Given the description of an element on the screen output the (x, y) to click on. 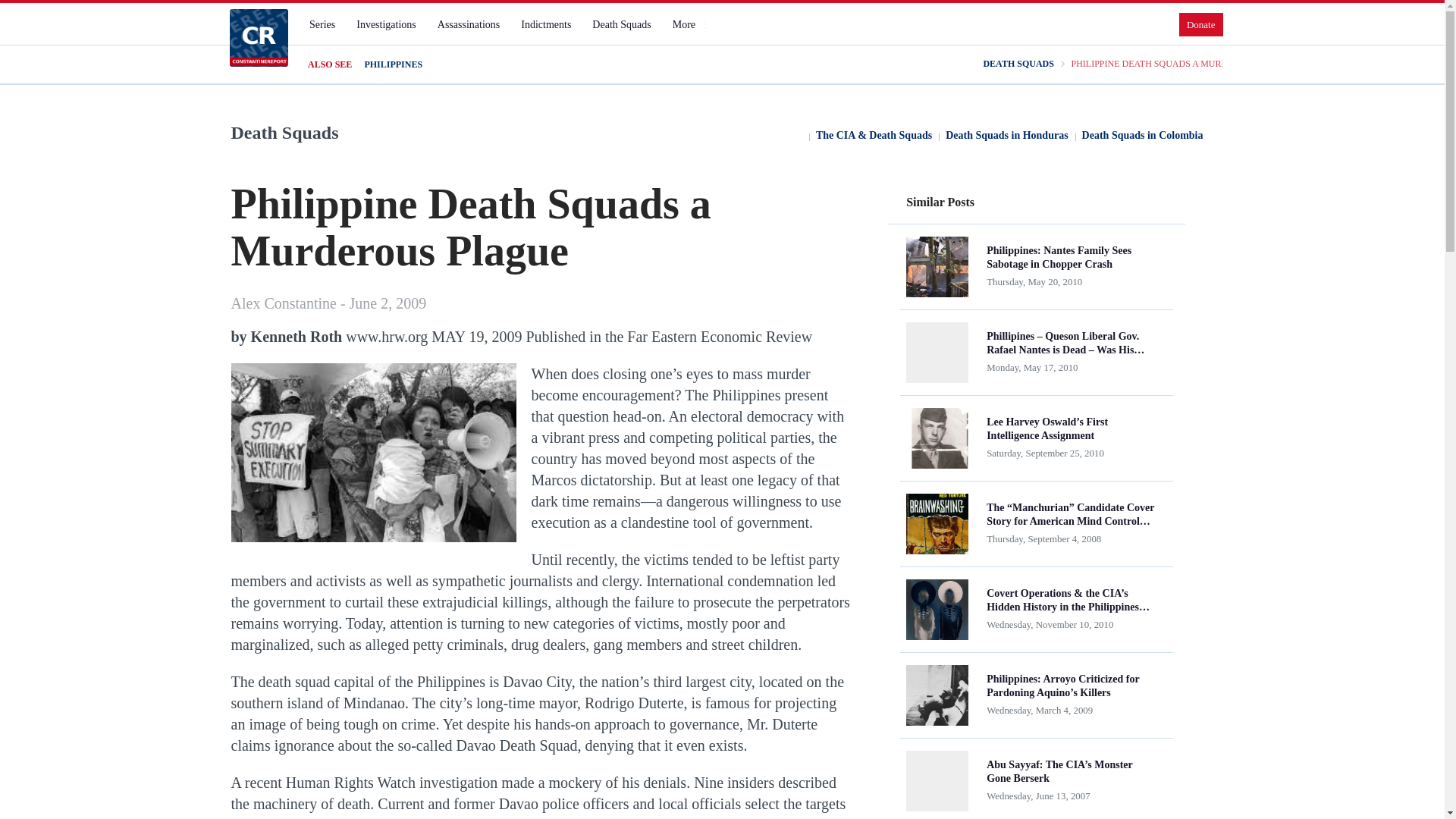
Assassinations (467, 23)
Investigations (386, 23)
Indictments (545, 23)
Death Squads (621, 23)
Donate (1201, 24)
Series (321, 23)
More (690, 24)
PHILIPPINES (393, 64)
Constantine Report (257, 37)
Philippine Death Squads a Murderous Plague (372, 452)
DEATH SQUADS (1017, 63)
